Given the description of an element on the screen output the (x, y) to click on. 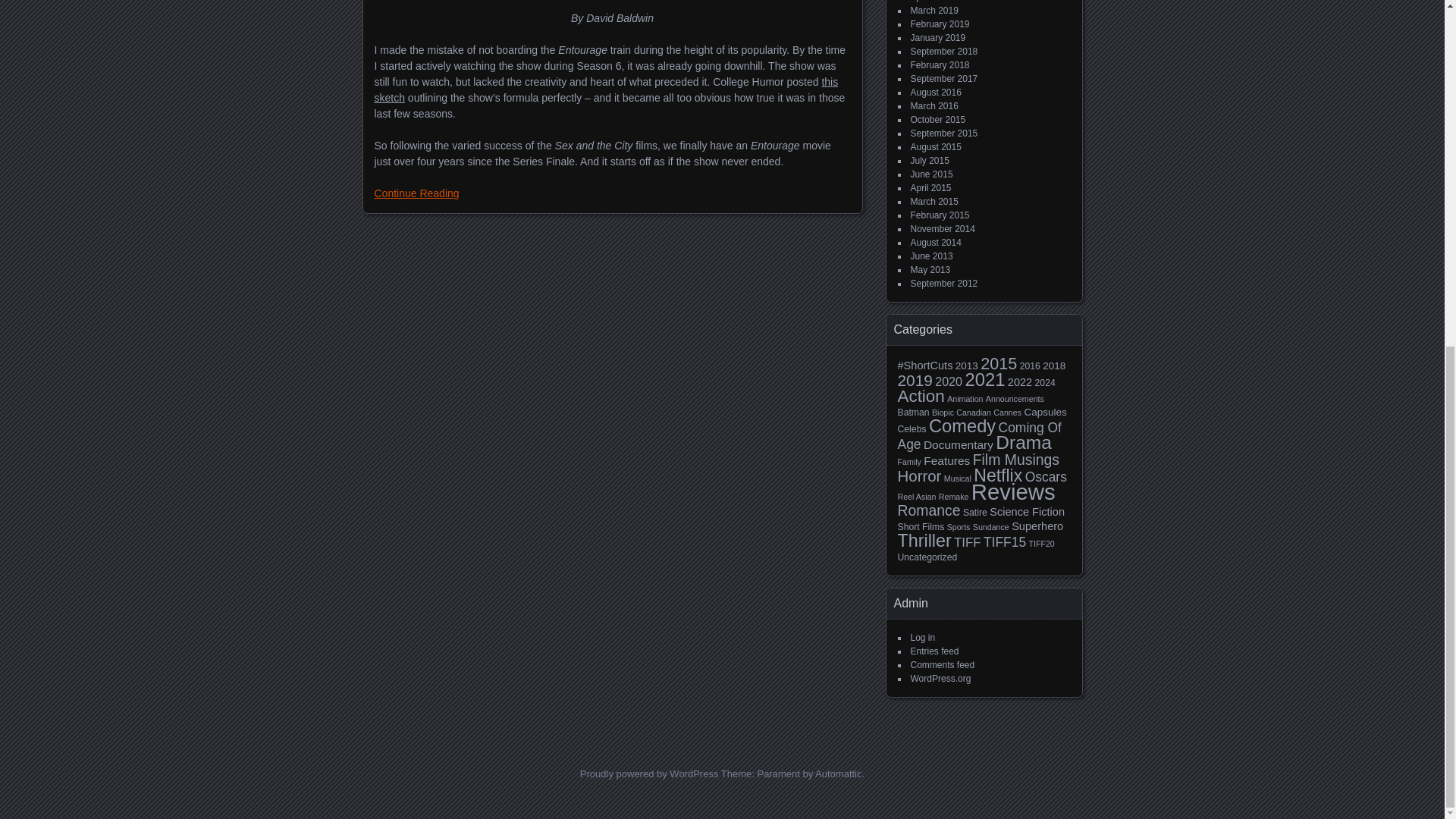
this sketch (606, 90)
Continue Reading (417, 193)
